Given the description of an element on the screen output the (x, y) to click on. 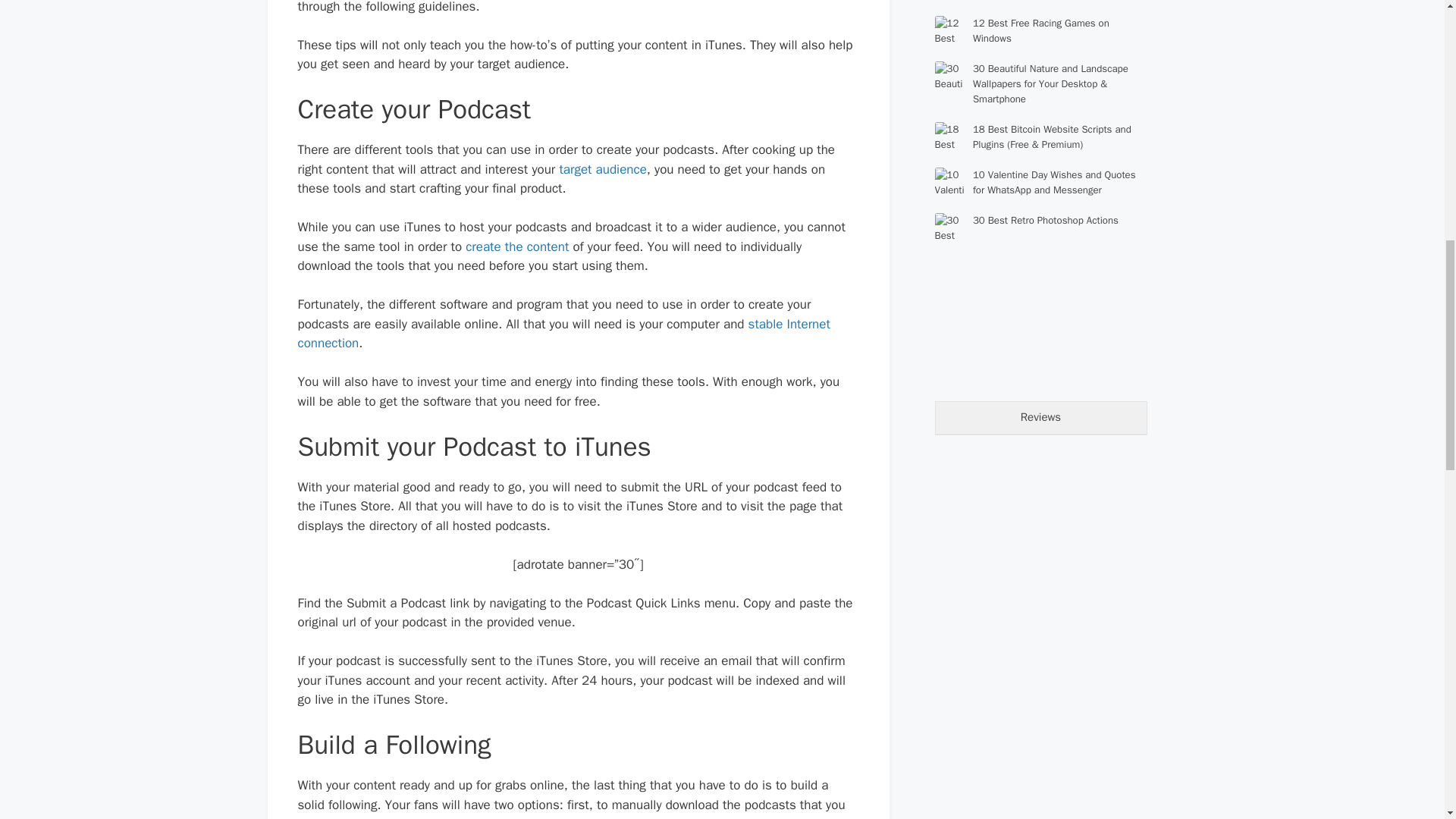
create the content (517, 246)
stable Internet connection (563, 334)
12 Best Free Racing Games on Windows (1040, 30)
target audience (602, 169)
What Might Cause A Slow Internet Connection? (563, 334)
The Ultimate Guide To Content Planning (517, 246)
